Given the description of an element on the screen output the (x, y) to click on. 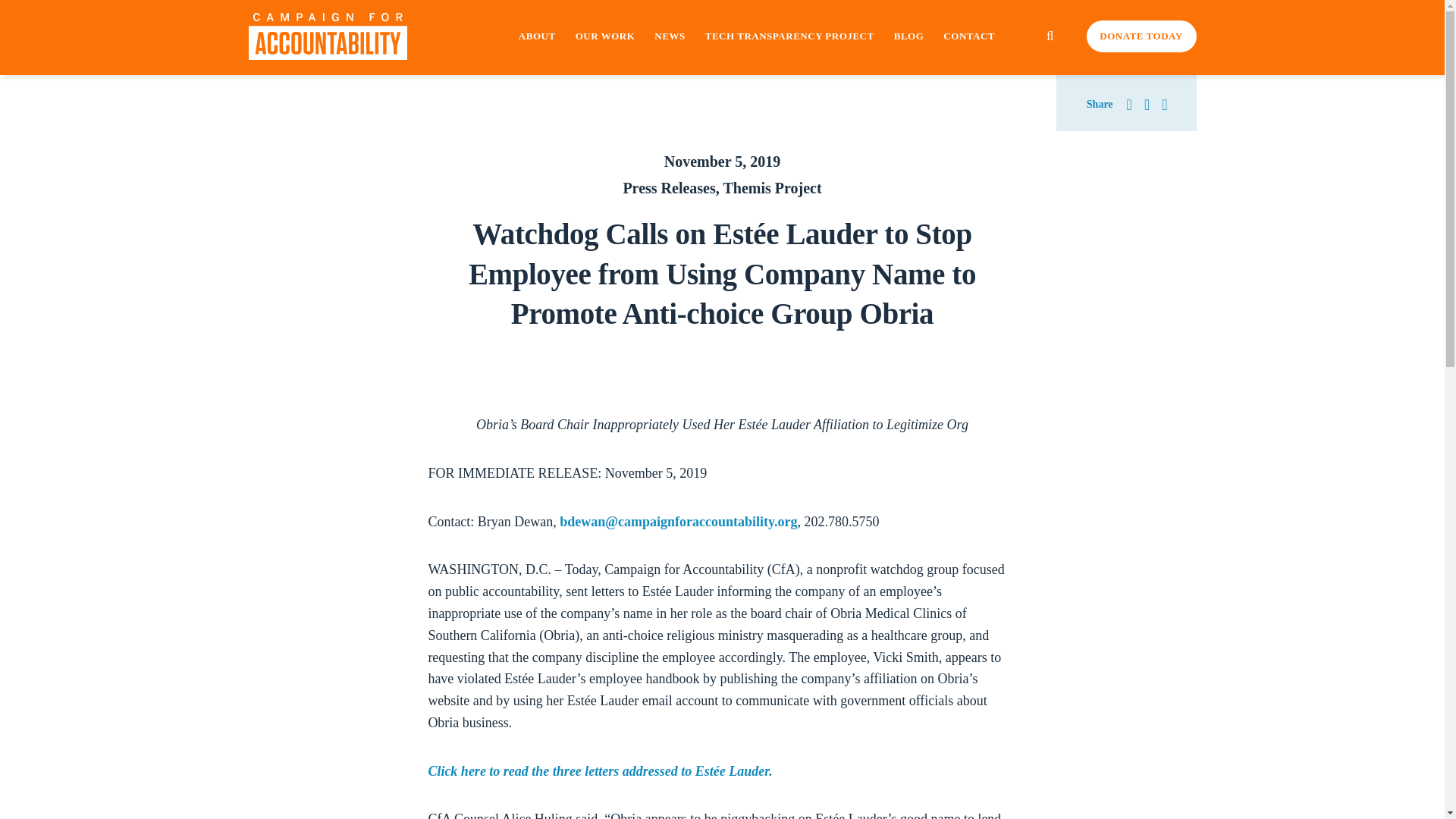
CONTACT (968, 35)
DONATE TODAY (1140, 36)
BLOG (908, 35)
TECH TRANSPARENCY PROJECT (789, 35)
NEWS (668, 35)
OUR WORK (604, 35)
ABOUT (537, 35)
